Given the description of an element on the screen output the (x, y) to click on. 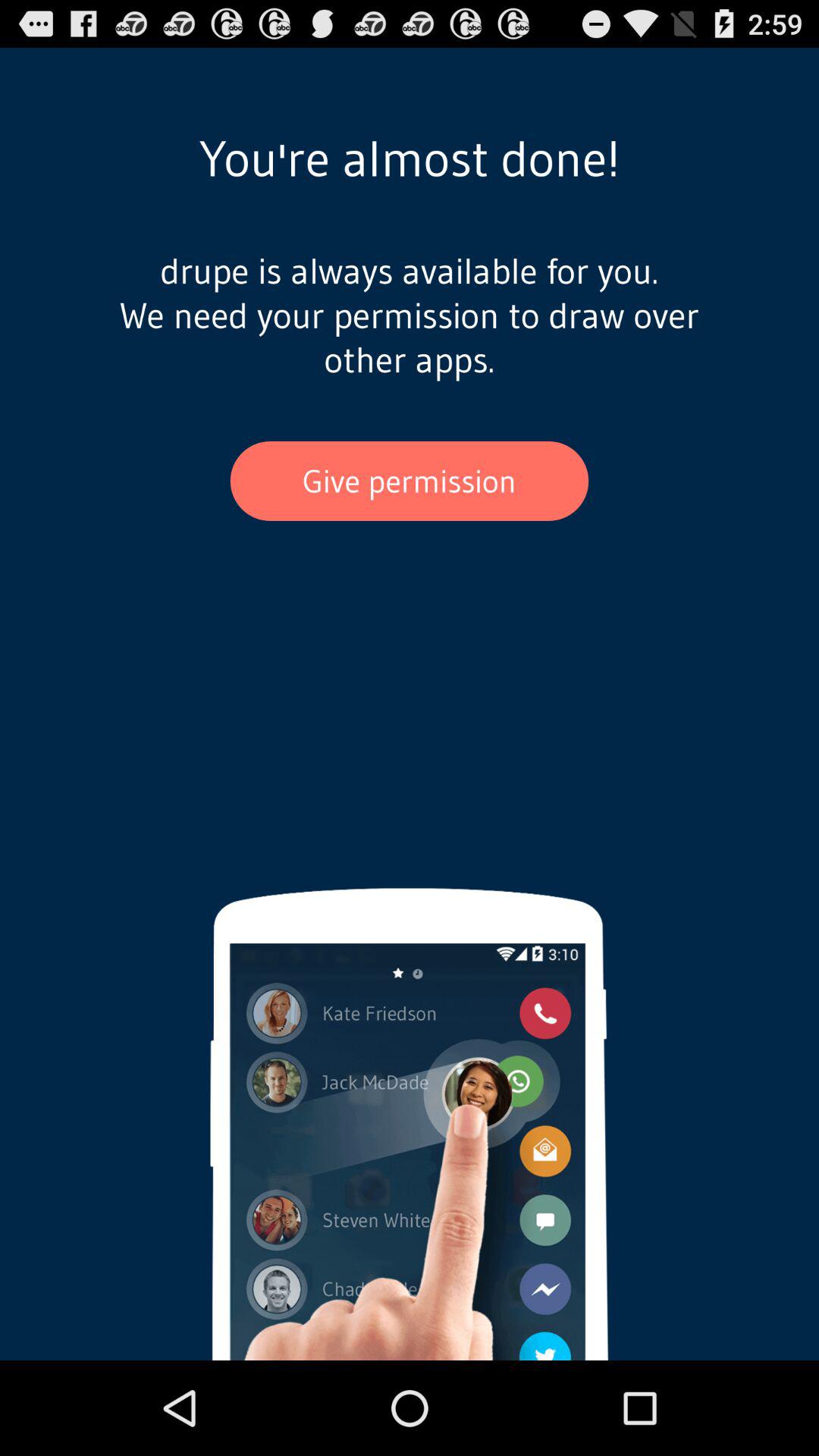
choose the app below drupe is always item (409, 480)
